Given the description of an element on the screen output the (x, y) to click on. 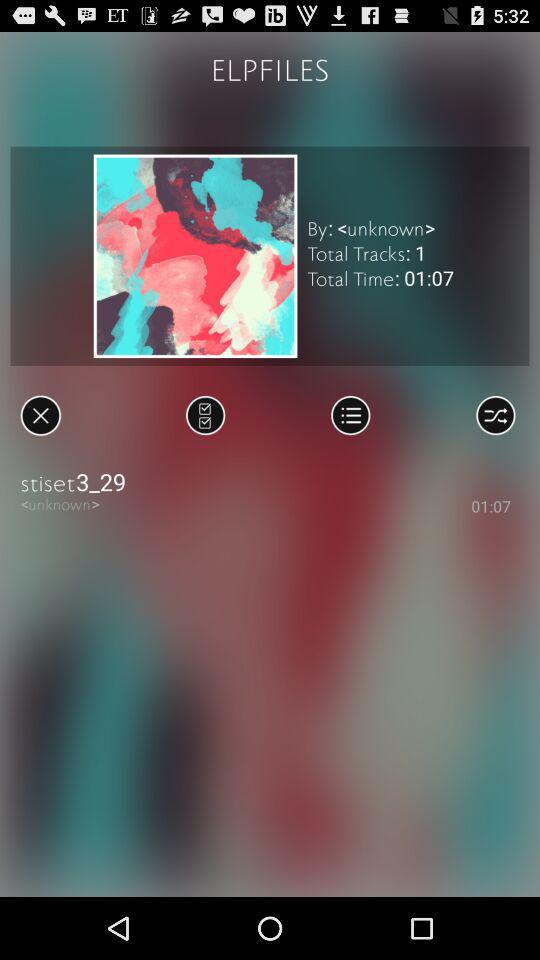
song change option (205, 415)
